Given the description of an element on the screen output the (x, y) to click on. 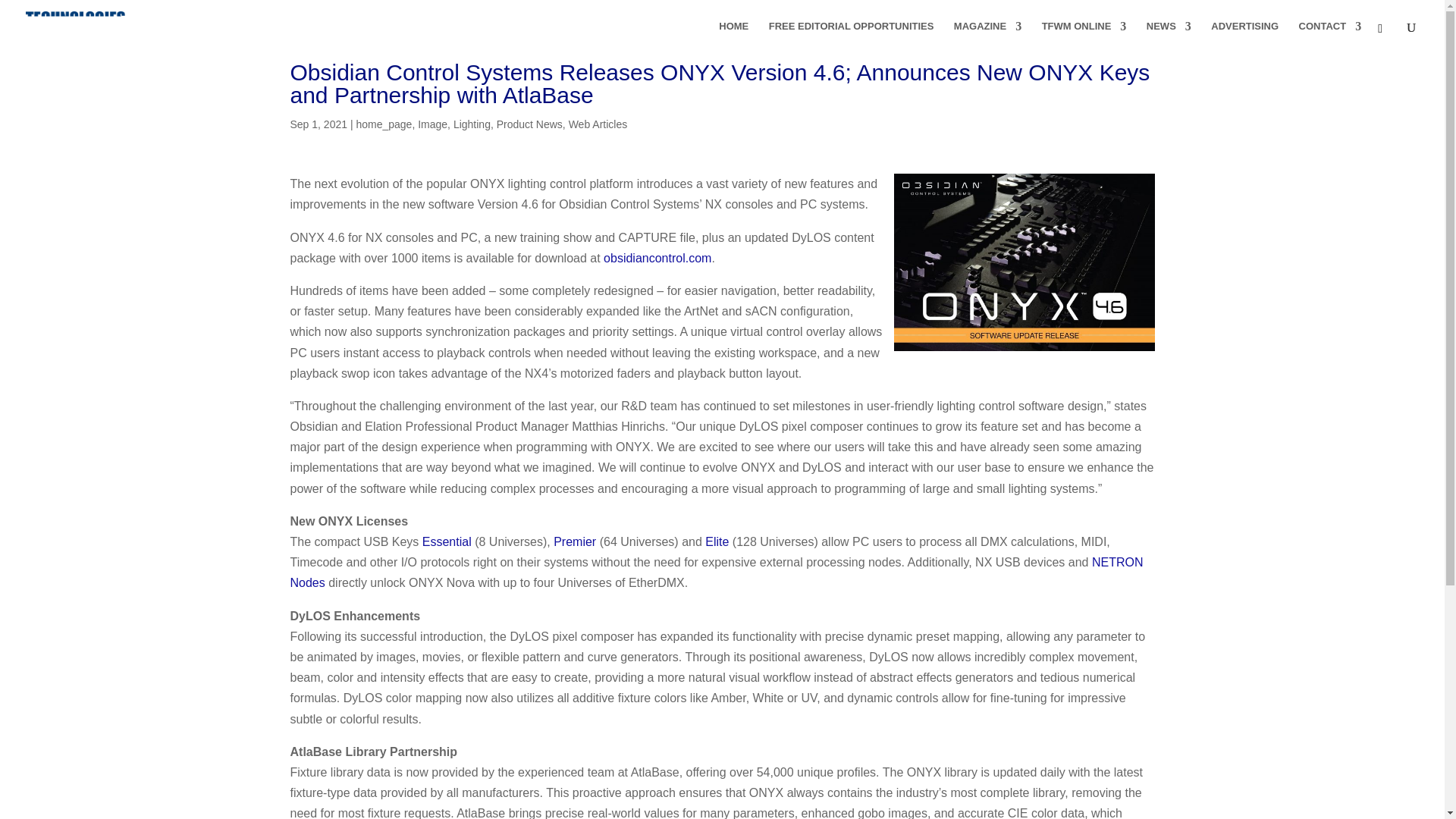
MAGAZINE (987, 37)
Essential (446, 541)
ADVERTISING (1244, 37)
CONTACT (1329, 37)
NETRON Nodes (715, 572)
Elite (716, 541)
FREE EDITORIAL OPPORTUNITIES (851, 37)
TFWM ONLINE (1084, 37)
Image (431, 123)
NEWS (1169, 37)
Web Articles (598, 123)
Product News (529, 123)
Lighting (471, 123)
HOME (733, 37)
Premier (574, 541)
